Given the description of an element on the screen output the (x, y) to click on. 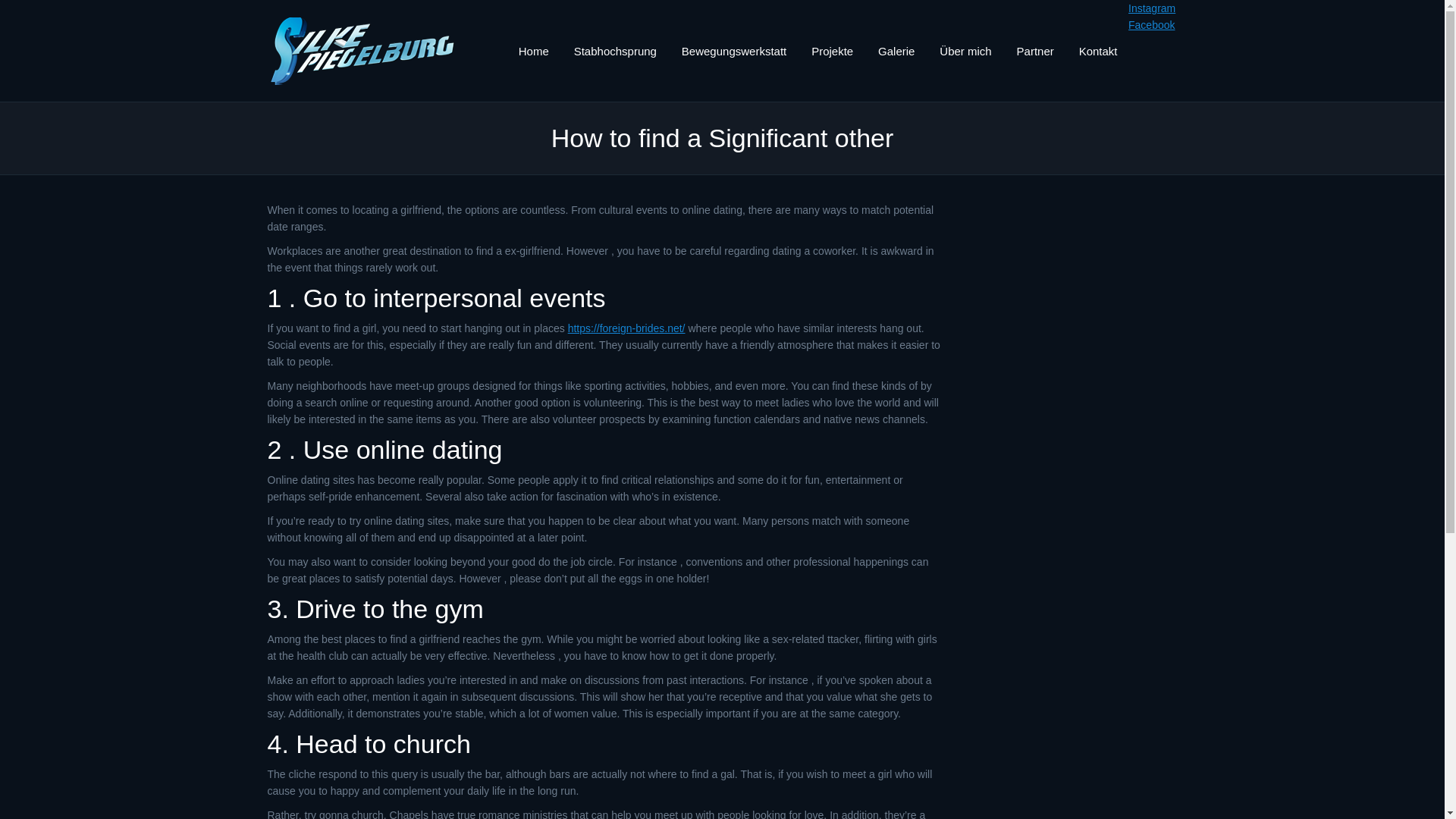
Galerie (896, 50)
Facebook (1151, 24)
Projekte (831, 50)
Kontakt (1098, 50)
Partner (1034, 50)
Bewegungswerkstatt (733, 50)
Stabhochsprung (614, 50)
Instagram (1151, 8)
Home (533, 50)
